Given the description of an element on the screen output the (x, y) to click on. 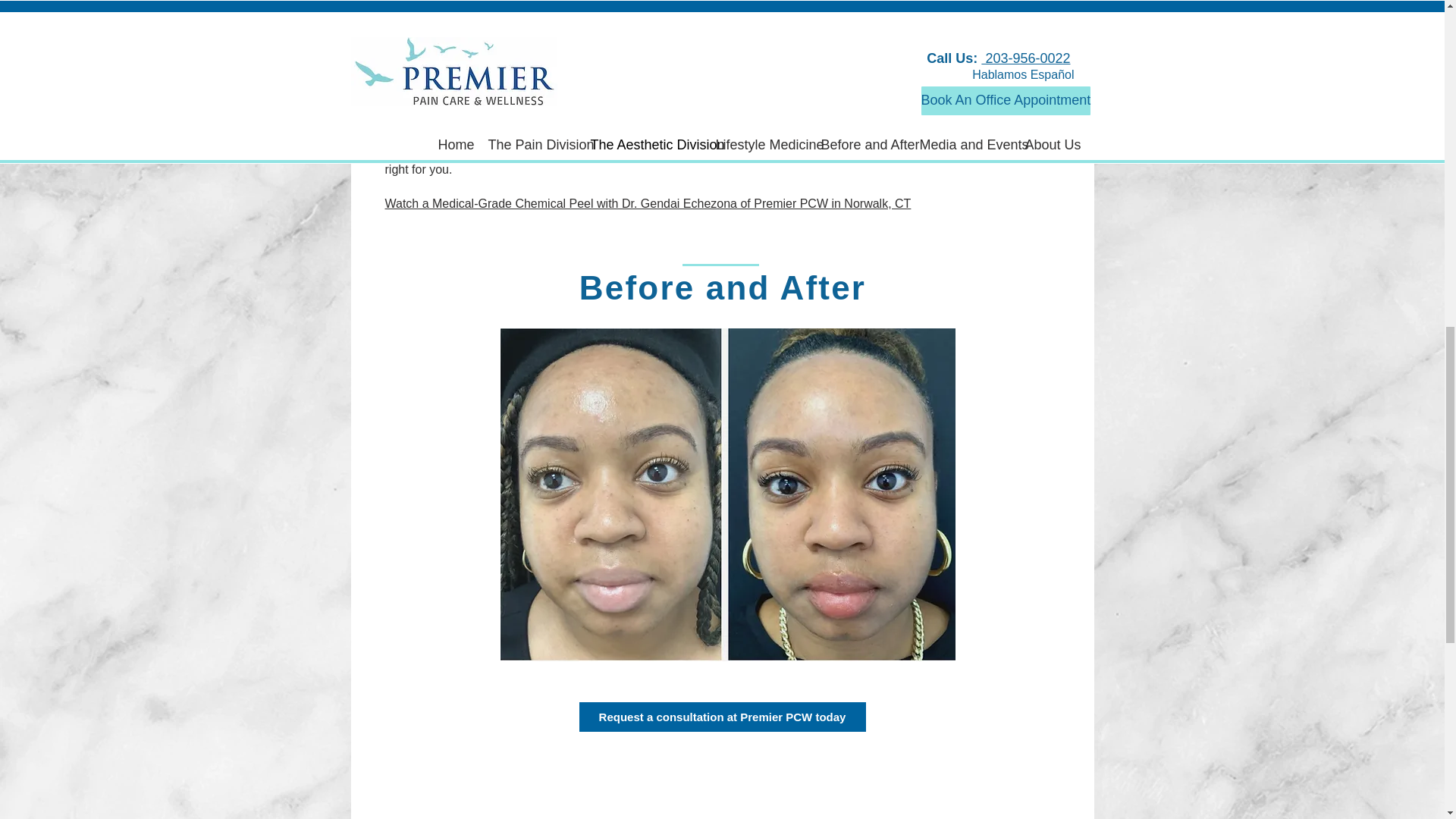
Request a consultation at Premier PCW today (722, 716)
